Given the description of an element on the screen output the (x, y) to click on. 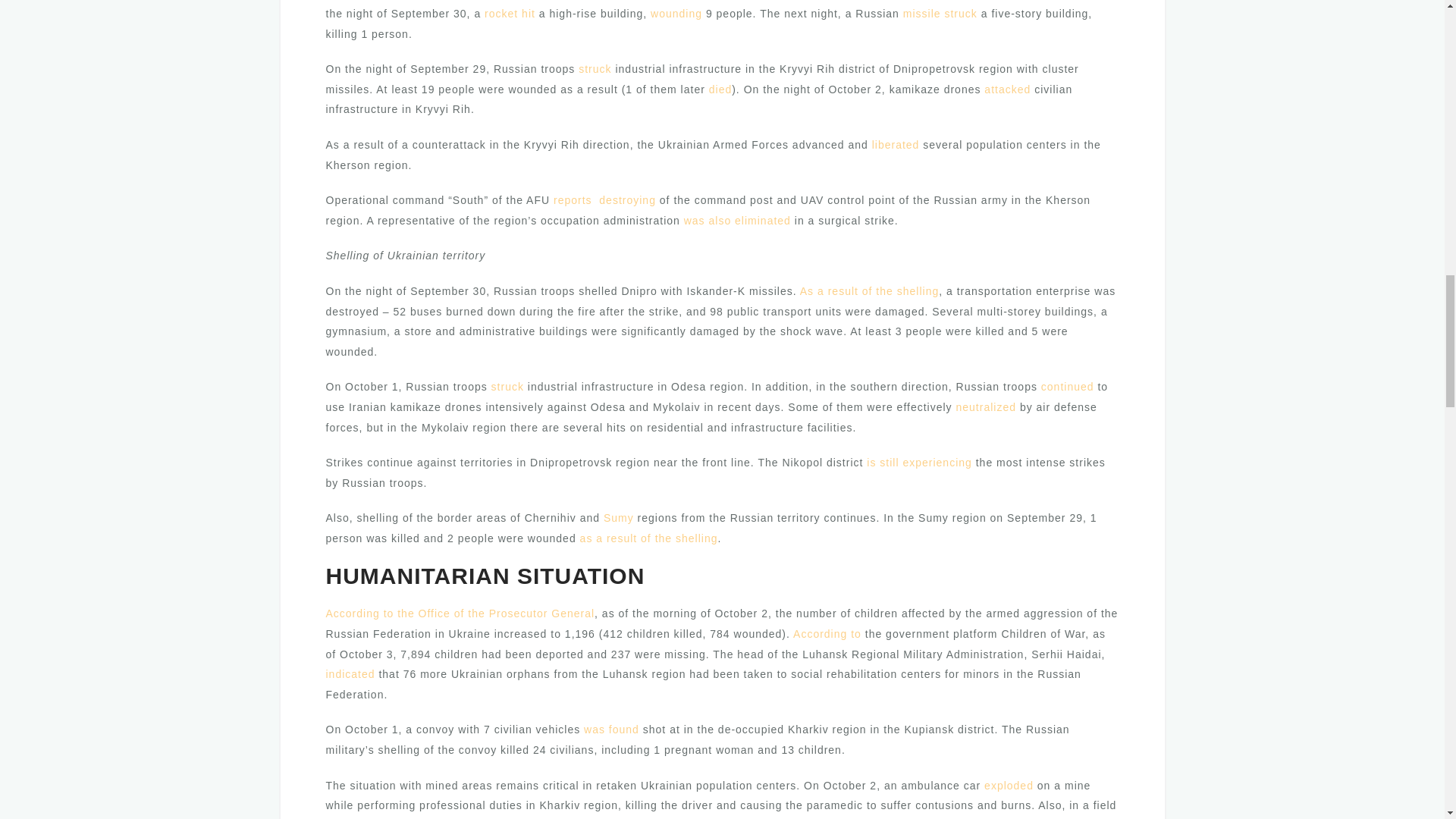
missile struck (939, 13)
rocket hit (509, 13)
continued (1067, 386)
struck (508, 386)
died (720, 89)
neutralized (985, 407)
destroying (627, 200)
As a result of the shelling (869, 291)
wounding (675, 13)
reports (572, 200)
liberated (896, 144)
attacked (1007, 89)
was also eliminated (737, 220)
struck (594, 69)
